Given the description of an element on the screen output the (x, y) to click on. 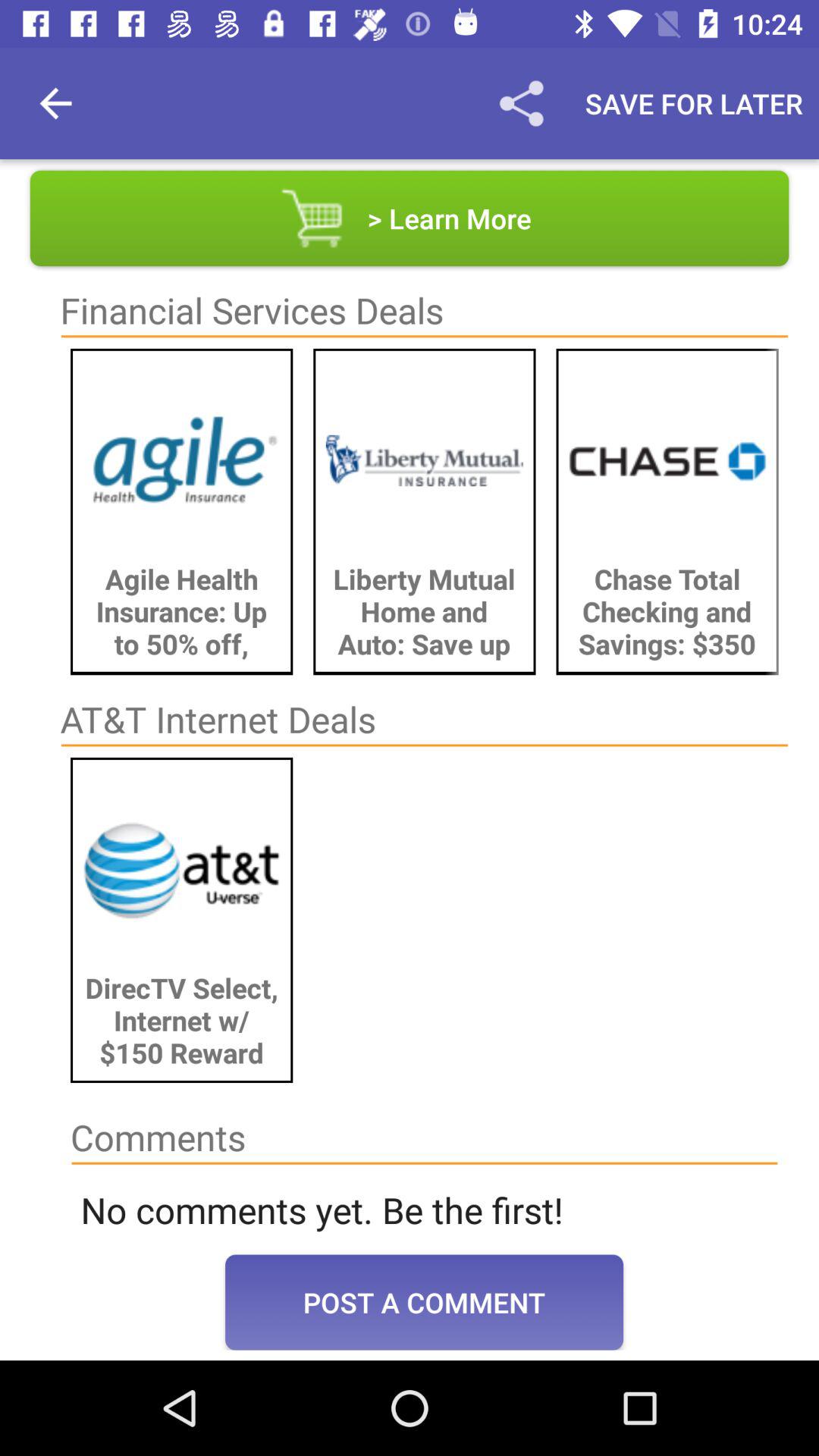
choose item above the > learn more item (55, 103)
